Given the description of an element on the screen output the (x, y) to click on. 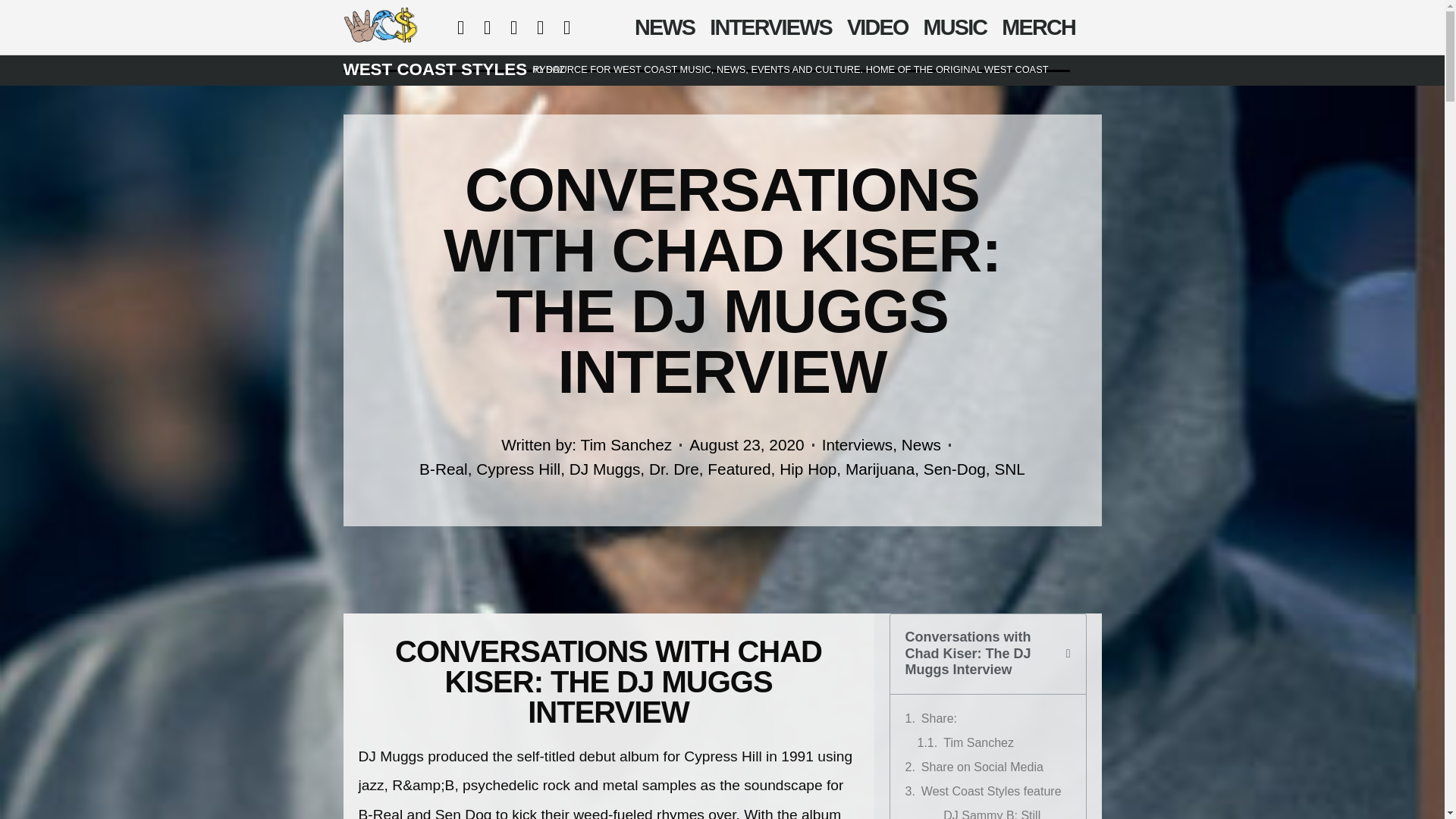
Cypress Hill (518, 468)
Interviews (857, 444)
August 23, 2020 (745, 444)
VIDEO (877, 27)
Written by: Tim Sanchez (585, 444)
News (920, 444)
MUSIC (954, 27)
MERCH (1038, 27)
NEWS (664, 27)
INTERVIEWS (770, 27)
B-Real (443, 468)
